Given the description of an element on the screen output the (x, y) to click on. 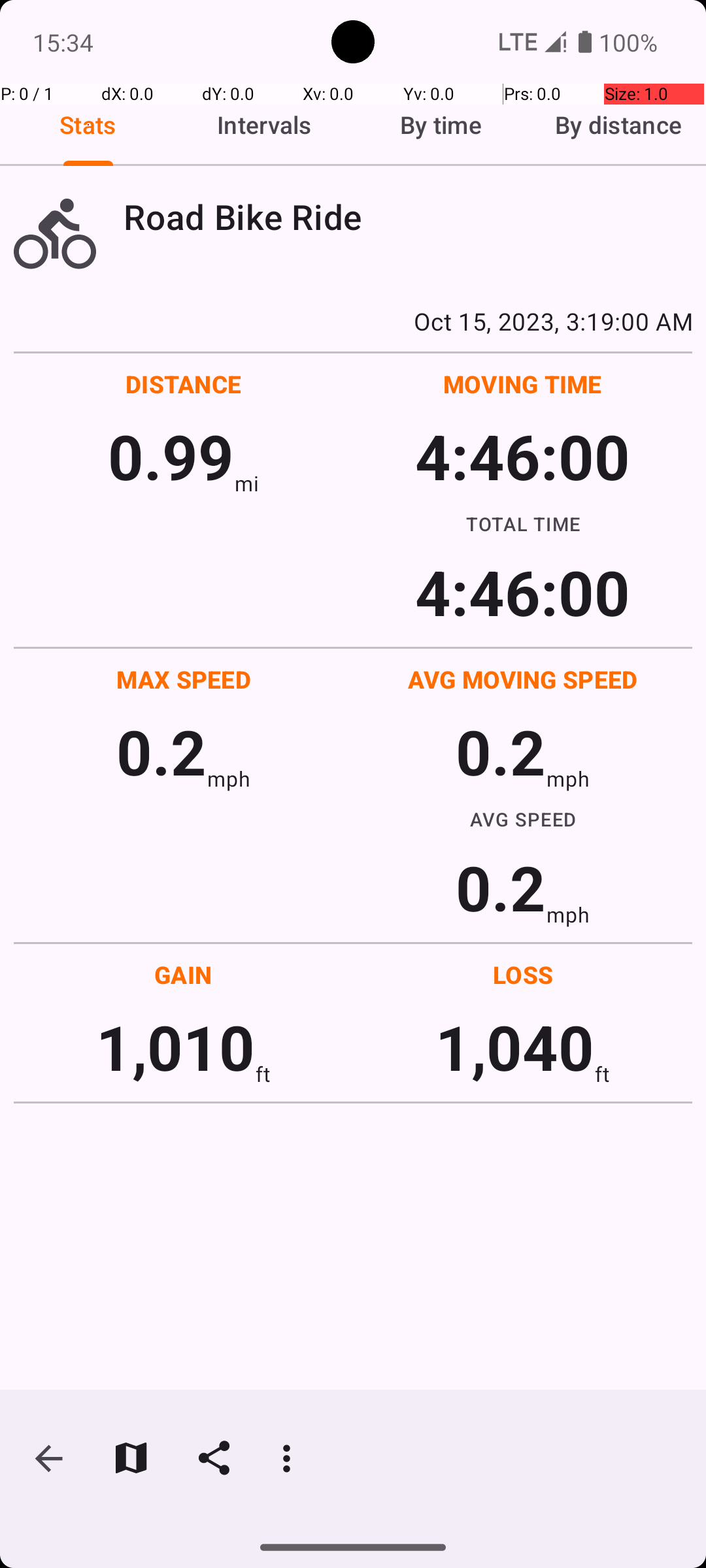
Road Bike Ride Element type: android.widget.TextView (407, 216)
Oct 15, 2023, 3:19:00 AM Element type: android.widget.TextView (352, 320)
0.99 Element type: android.widget.TextView (170, 455)
4:46:00 Element type: android.widget.TextView (522, 455)
0.2 Element type: android.widget.TextView (161, 750)
1,010 Element type: android.widget.TextView (175, 1045)
1,040 Element type: android.widget.TextView (514, 1045)
